Given the description of an element on the screen output the (x, y) to click on. 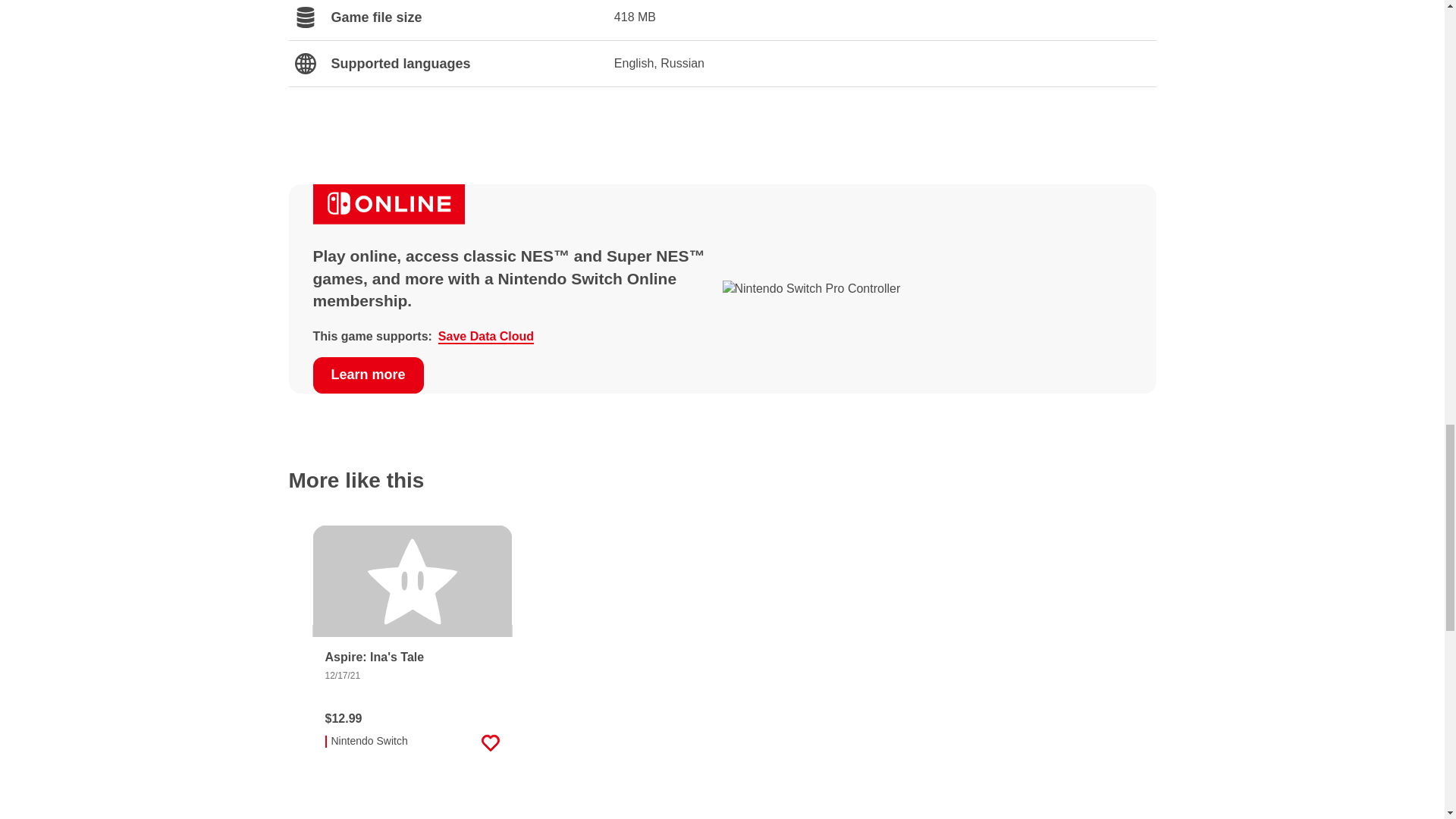
Add to Wish List (489, 742)
